Given the description of an element on the screen output the (x, y) to click on. 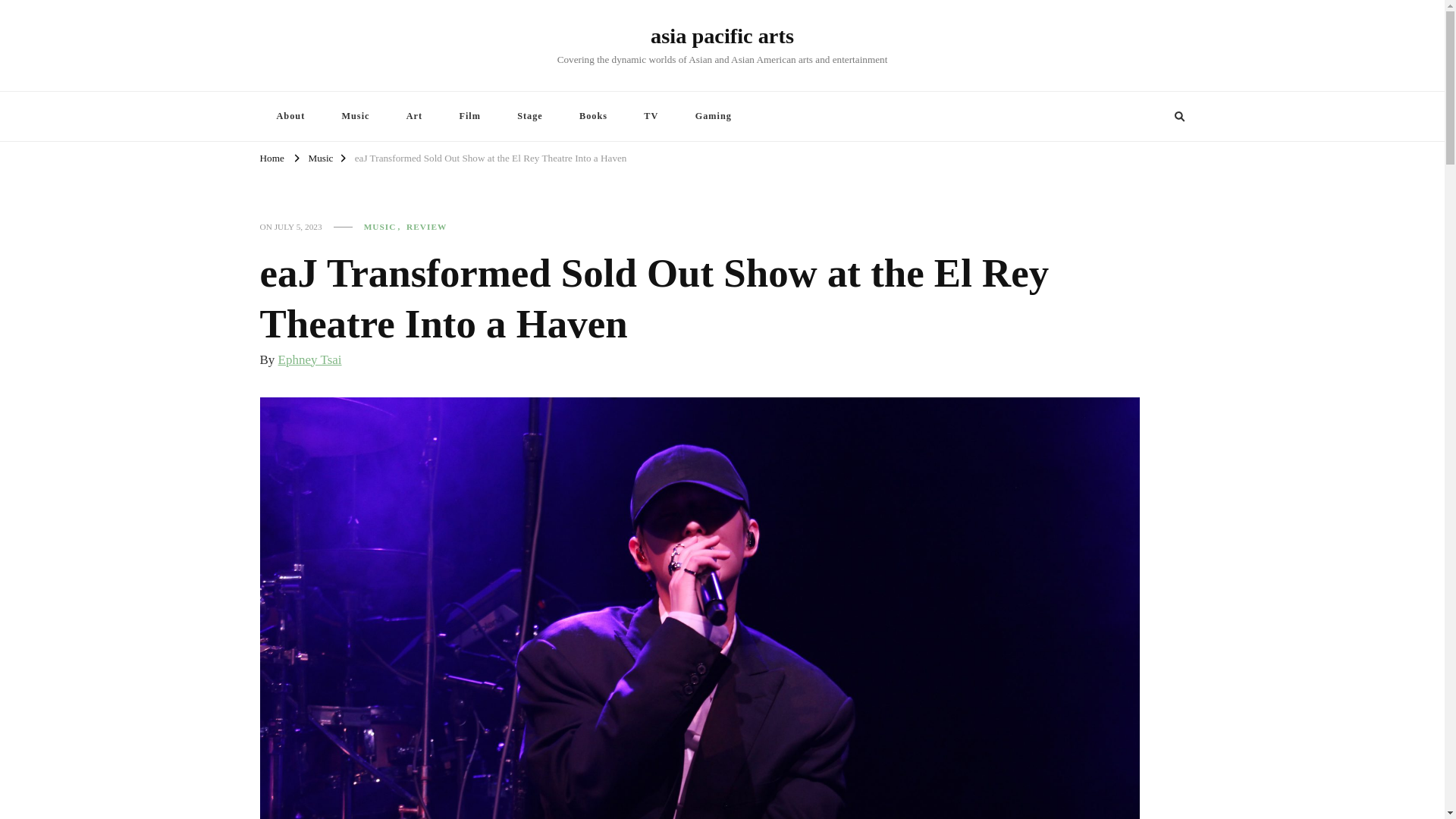
Music (320, 159)
Film (469, 115)
MUSIC (384, 226)
asia pacific arts (721, 35)
Art (414, 115)
Stage (529, 115)
About (290, 115)
JULY 5, 2023 (298, 226)
Music (354, 115)
REVIEW (426, 226)
Books (593, 115)
Home (271, 159)
Posts by Ephney Tsai (310, 359)
Gaming (713, 115)
